Given the description of an element on the screen output the (x, y) to click on. 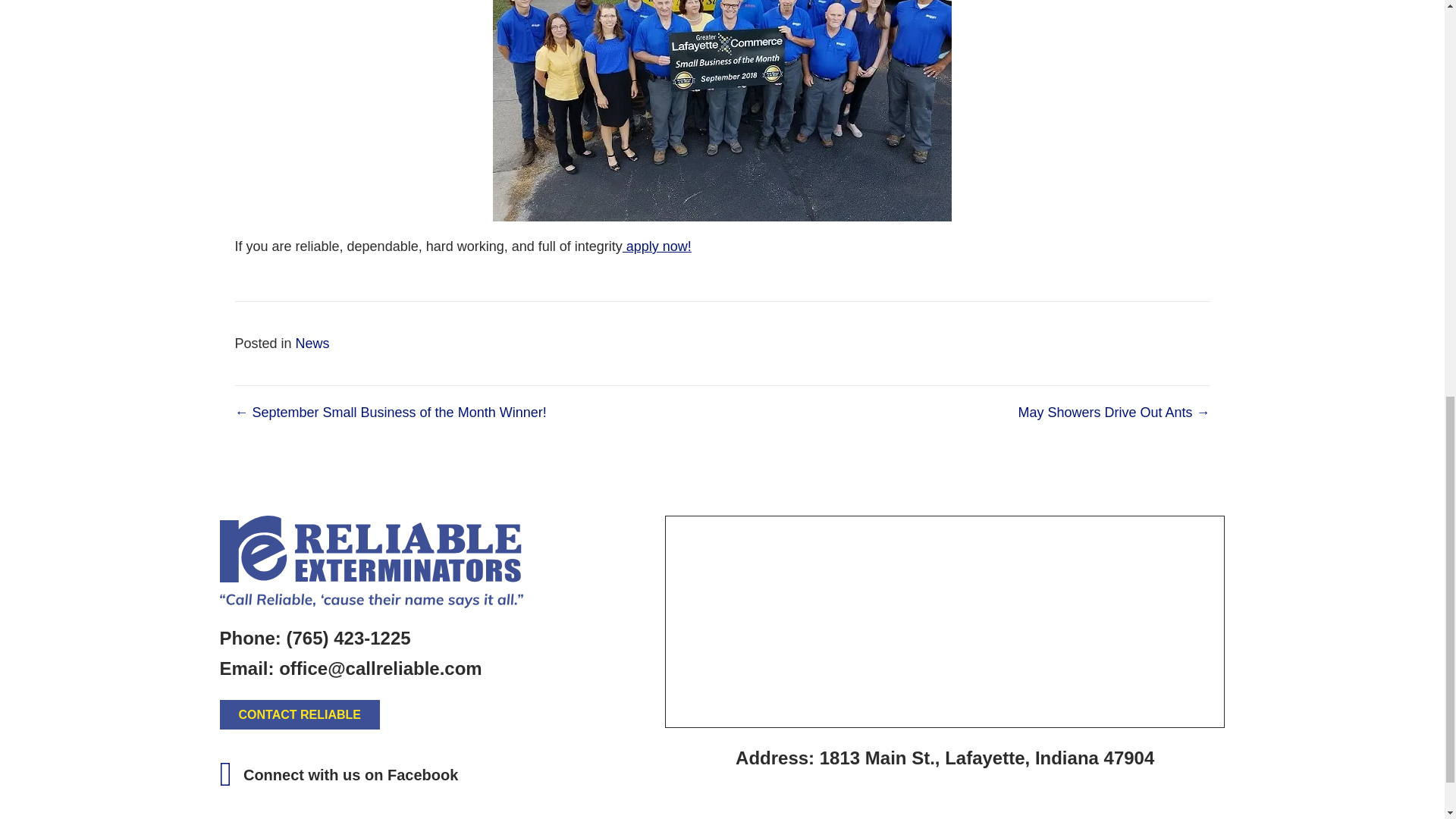
apply now! (657, 246)
News (312, 343)
CONTACT RELIABLE (299, 714)
Logo2 (370, 561)
